Given the description of an element on the screen output the (x, y) to click on. 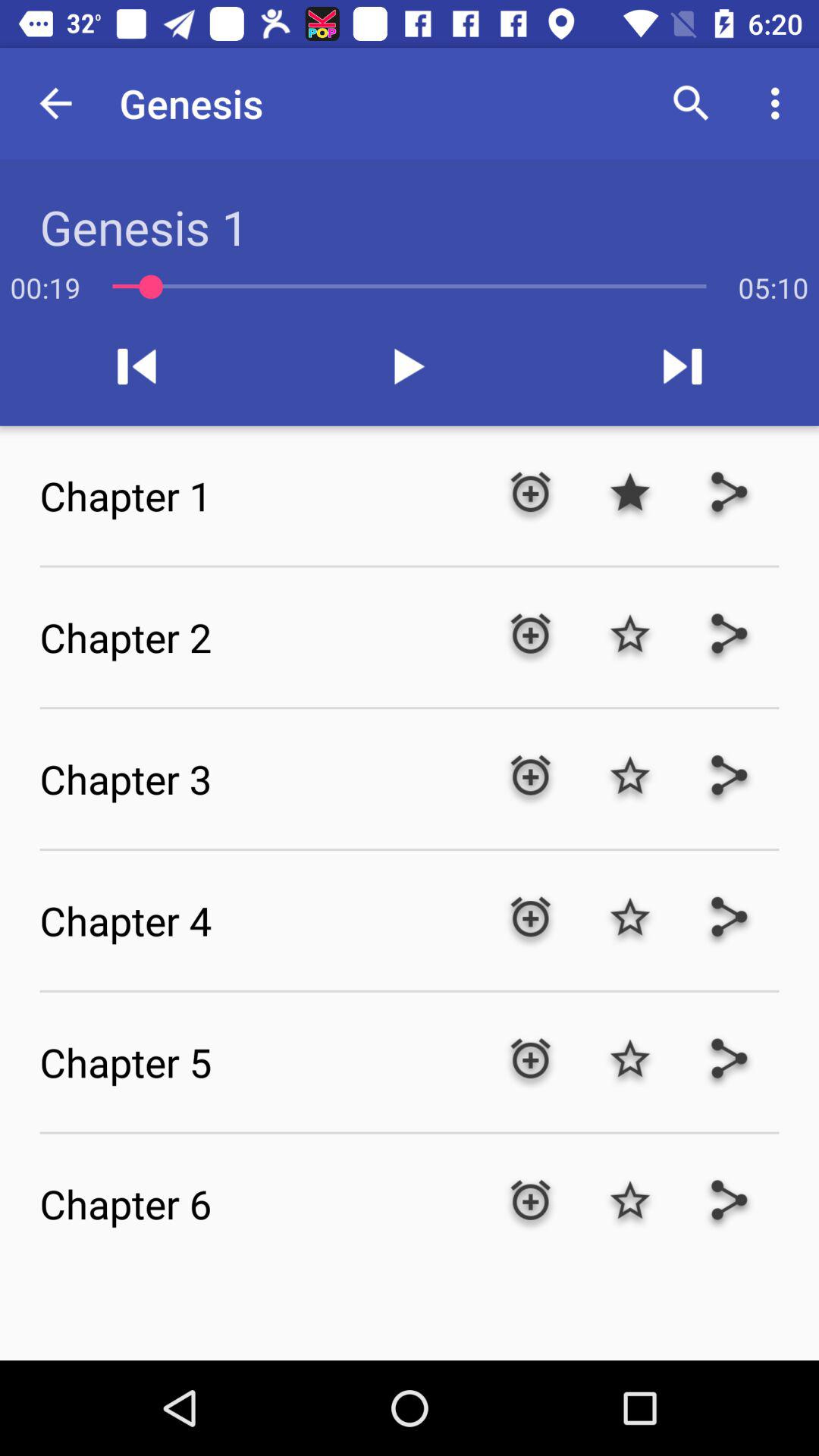
swipe to the chapter 5 icon (259, 1061)
